Given the description of an element on the screen output the (x, y) to click on. 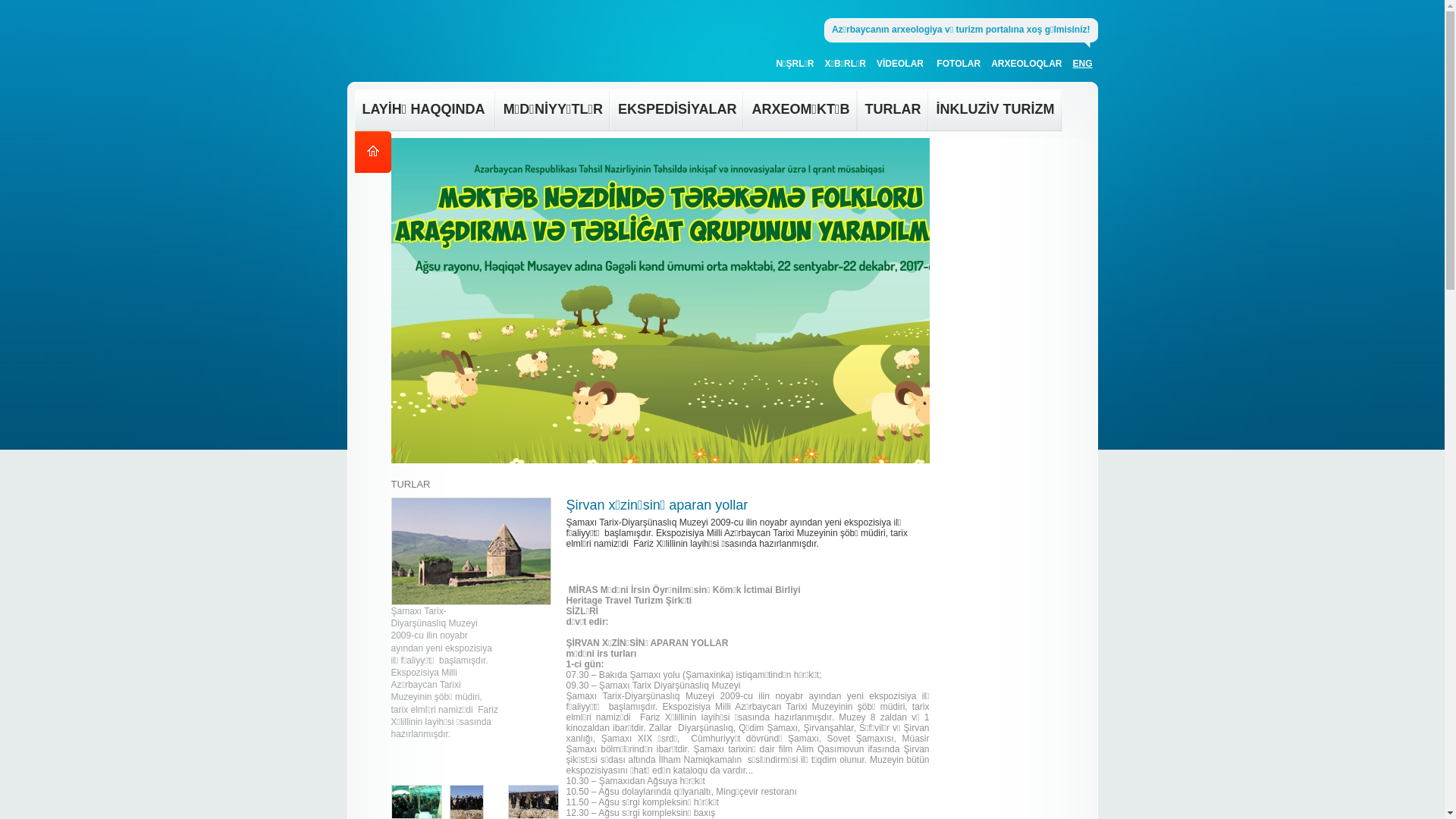
2 Element type: text (412, 373)
ARXEOLOQLAR Element type: text (1028, 66)
4 Element type: text (442, 373)
1 Element type: text (397, 373)
3 Element type: text (427, 373)
FOTOLAR Element type: text (960, 66)
TURLAR Element type: text (892, 110)
ENG Element type: text (1084, 66)
